Given the description of an element on the screen output the (x, y) to click on. 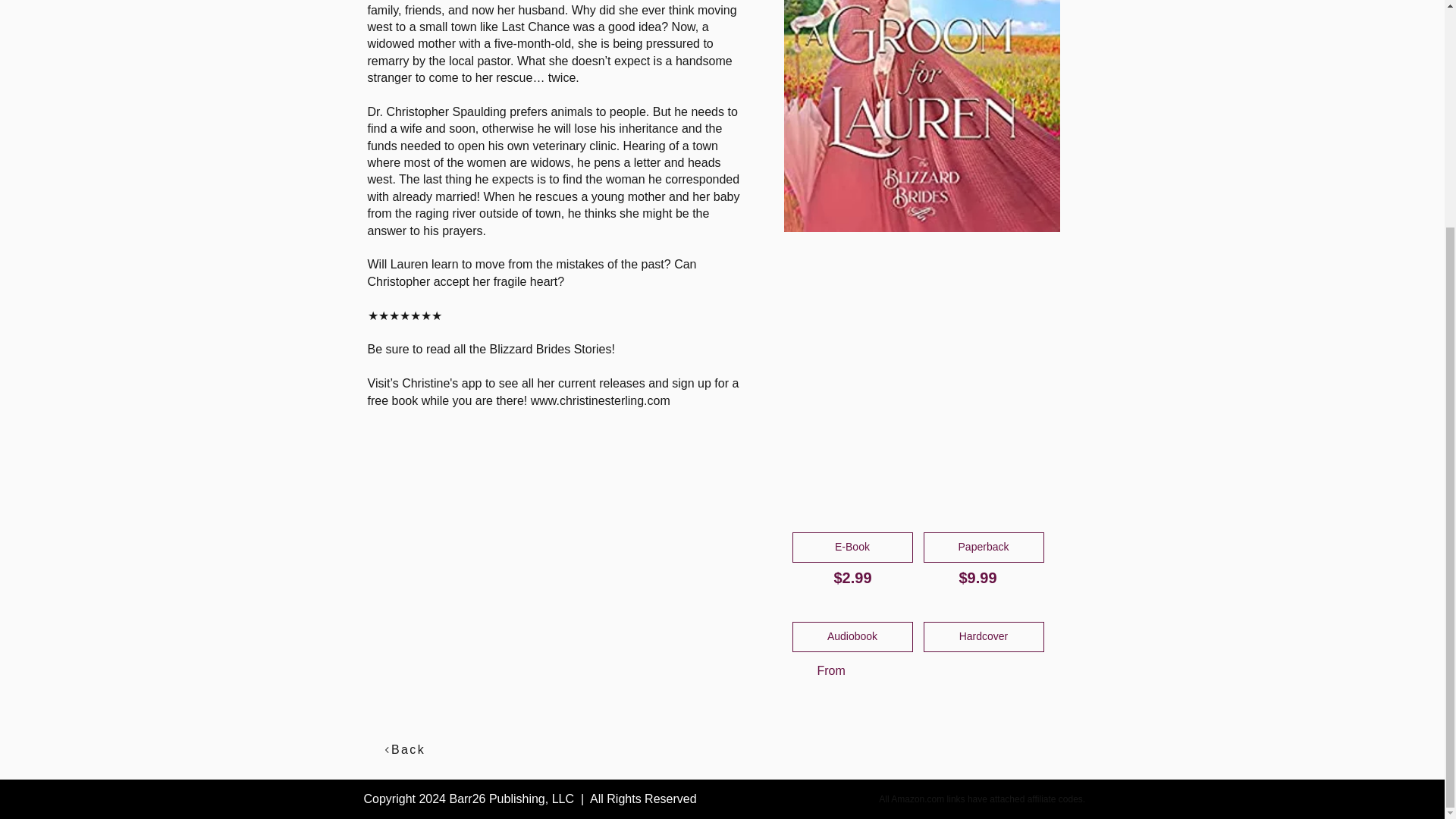
E-Book (852, 547)
www.christinesterling.com (600, 400)
Back (404, 749)
Lauren.jpg (921, 115)
Paperback (983, 547)
